Given the description of an element on the screen output the (x, y) to click on. 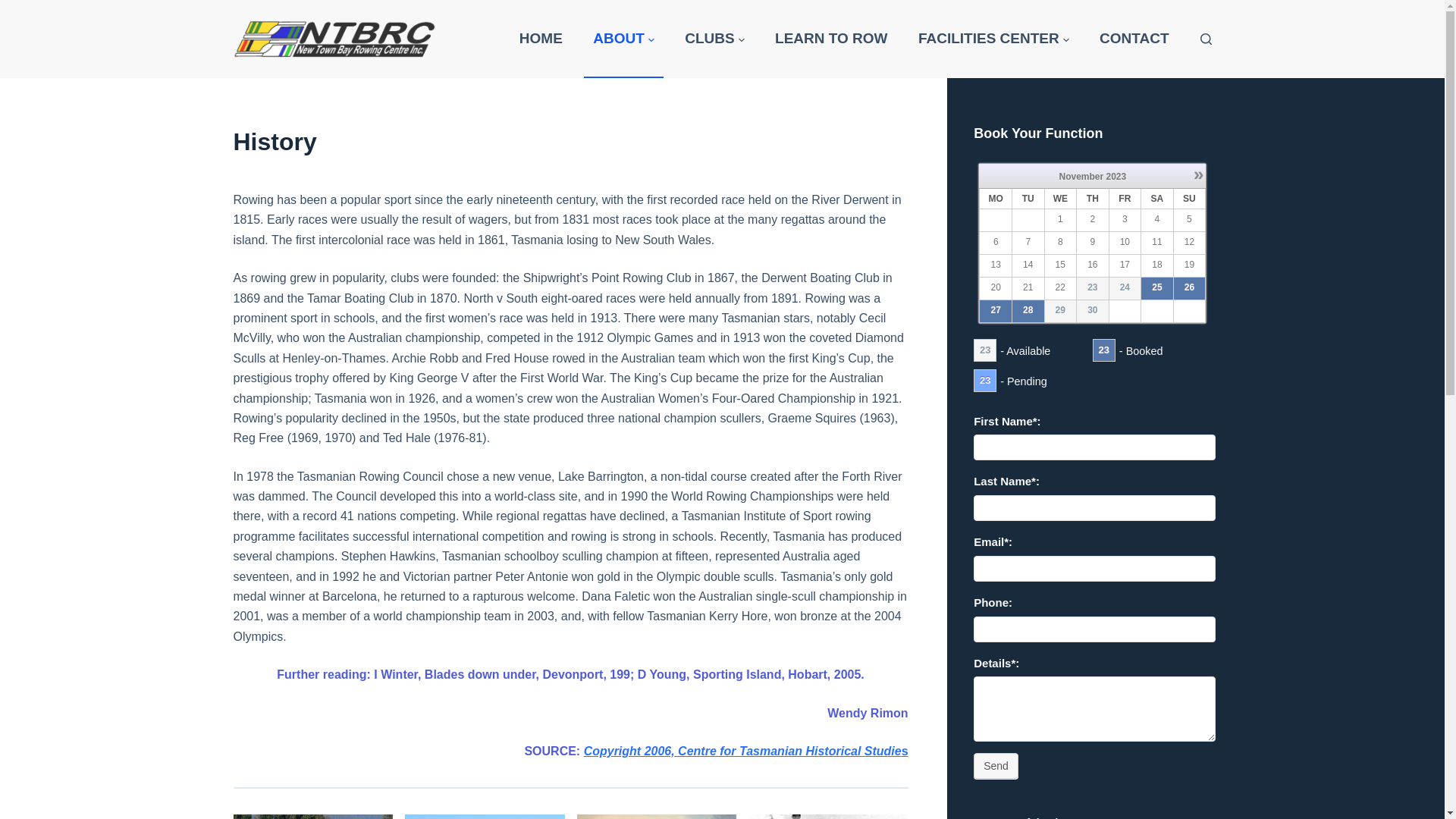
ABOUT Element type: text (623, 39)
23 Element type: text (1092, 287)
Skip to content Element type: text (15, 7)
29 Element type: text (1060, 310)
24 Element type: text (1124, 287)
FACILITIES CENTER Element type: text (993, 39)
HOME Element type: text (540, 39)
23 Element type: text (1092, 287)
30 Element type: text (1092, 309)
23 Element type: text (984, 349)
Copyright 2006, Centre for Tasmanian Historical Studies Element type: text (745, 750)
CONTACT Element type: text (1134, 39)
LEARN TO ROW Element type: text (831, 39)
30 Element type: text (1092, 310)
CLUBS Element type: text (714, 39)
29 Element type: text (1060, 309)
Send Element type: text (995, 765)
24 Element type: text (1124, 287)
